Given the description of an element on the screen output the (x, y) to click on. 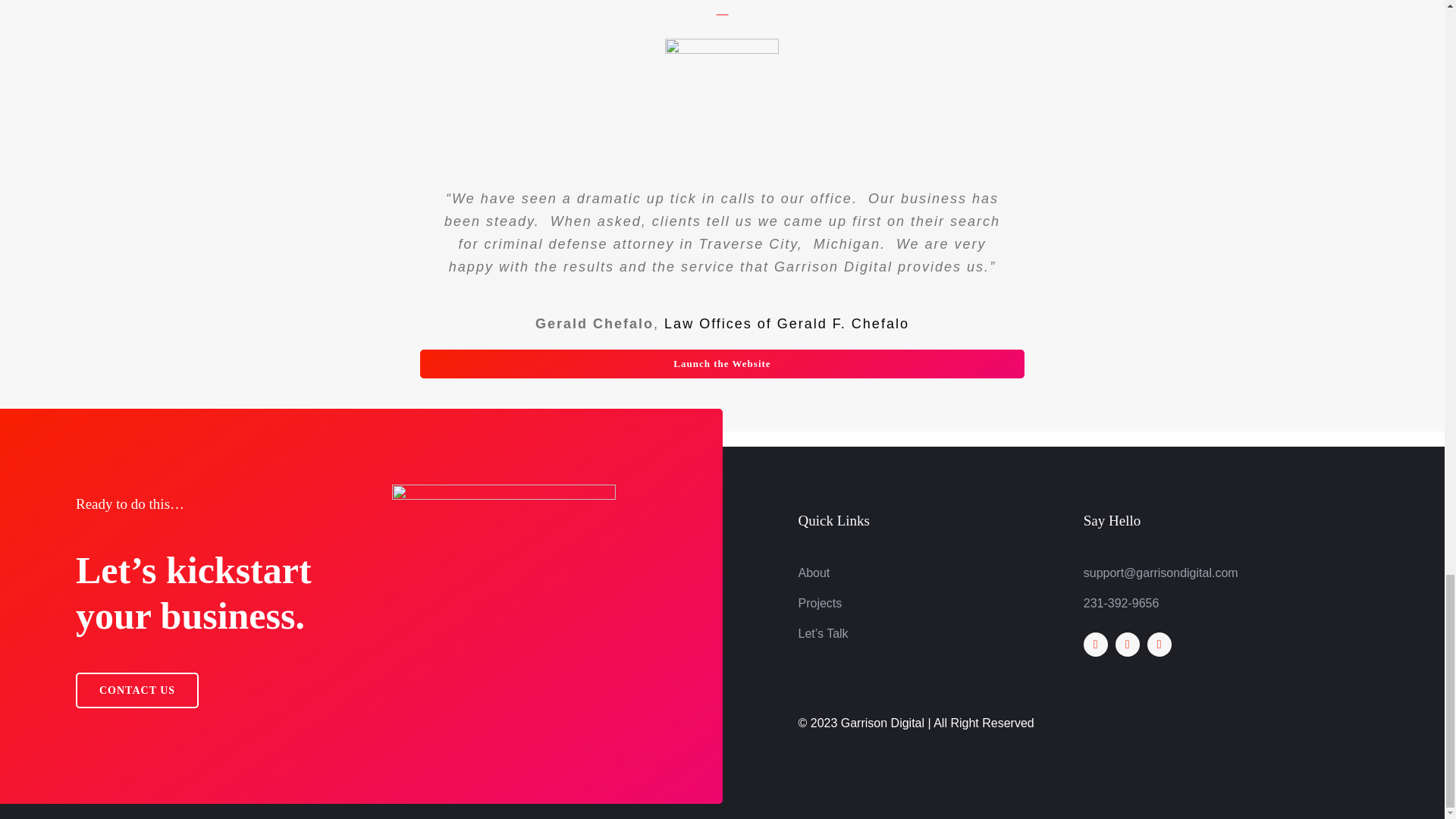
Launch the Website (722, 363)
Footer-Contact-Img (503, 598)
CONTACT US (136, 690)
X (1127, 644)
About (813, 572)
Instagram (1159, 644)
Law Offices of Gerald F. Chefalo (785, 323)
Facebook (1095, 644)
Projects (819, 603)
